Given the description of an element on the screen output the (x, y) to click on. 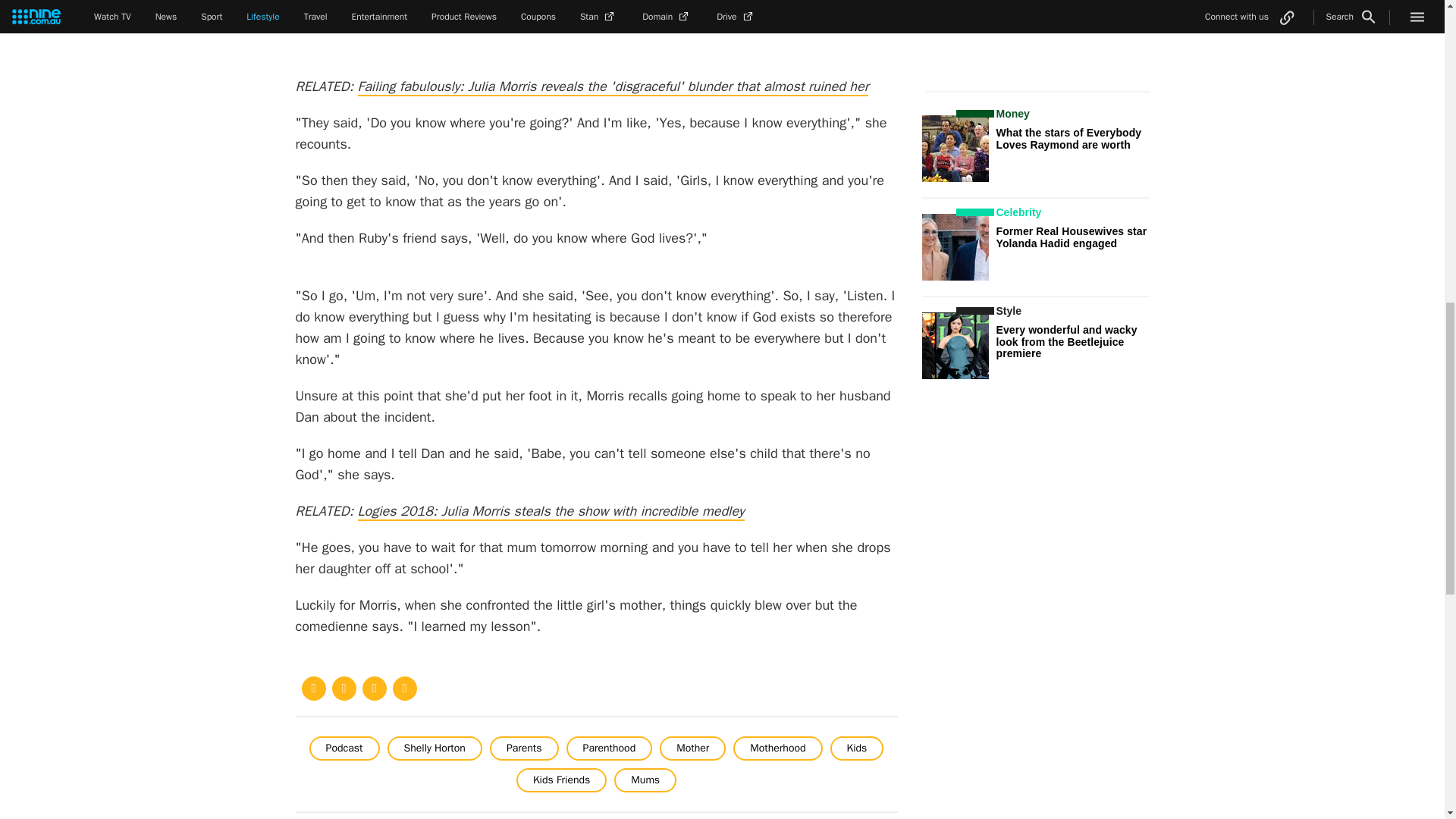
Motherhood (777, 748)
Mother (692, 748)
Shelly Horton (434, 748)
Parents (524, 748)
Podcast (344, 748)
Kids (856, 748)
Parenthood (609, 748)
